Given the description of an element on the screen output the (x, y) to click on. 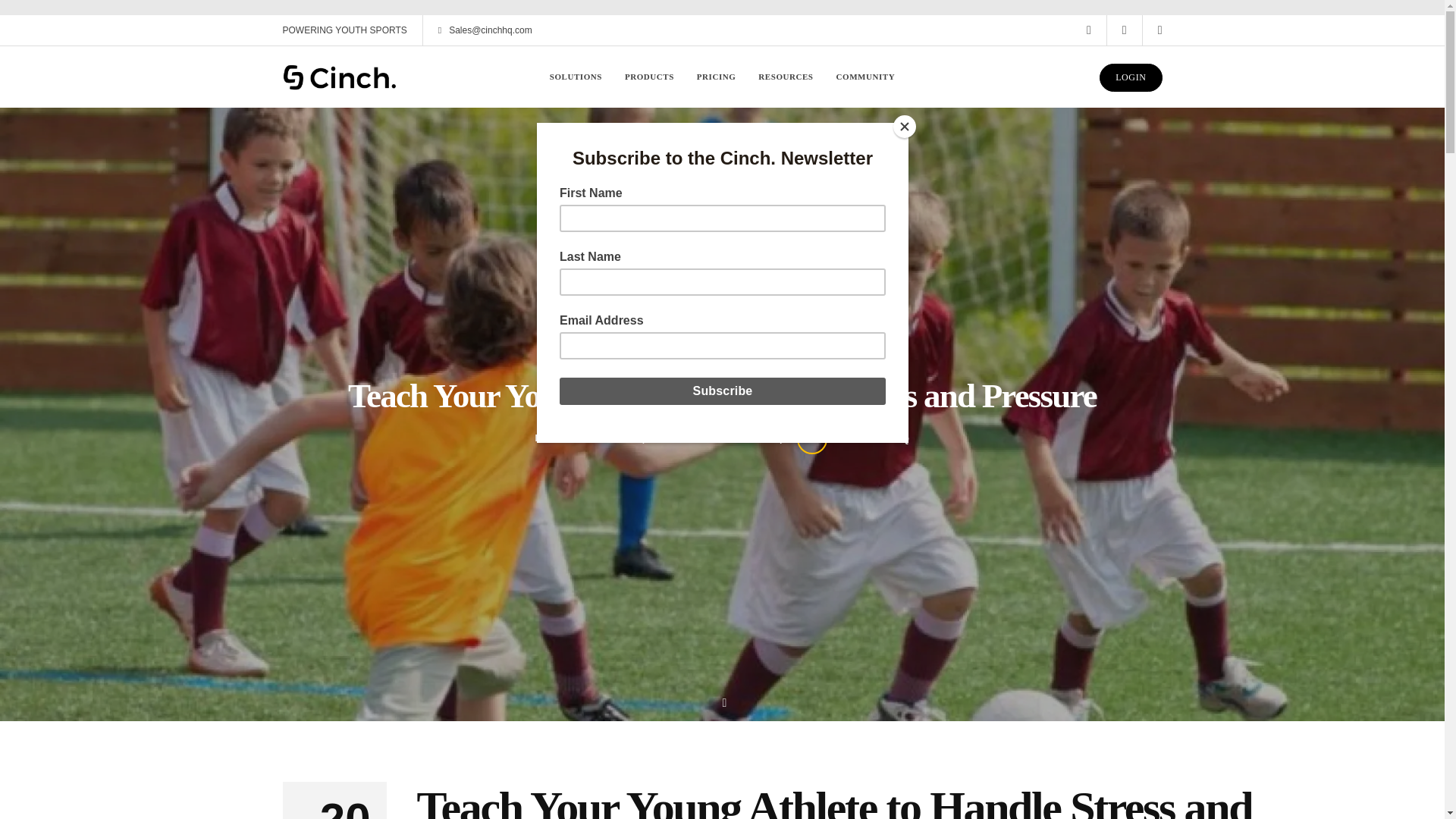
View all posts in Featured (742, 438)
RESOURCES (785, 76)
COMMUNITY (865, 76)
